Given the description of an element on the screen output the (x, y) to click on. 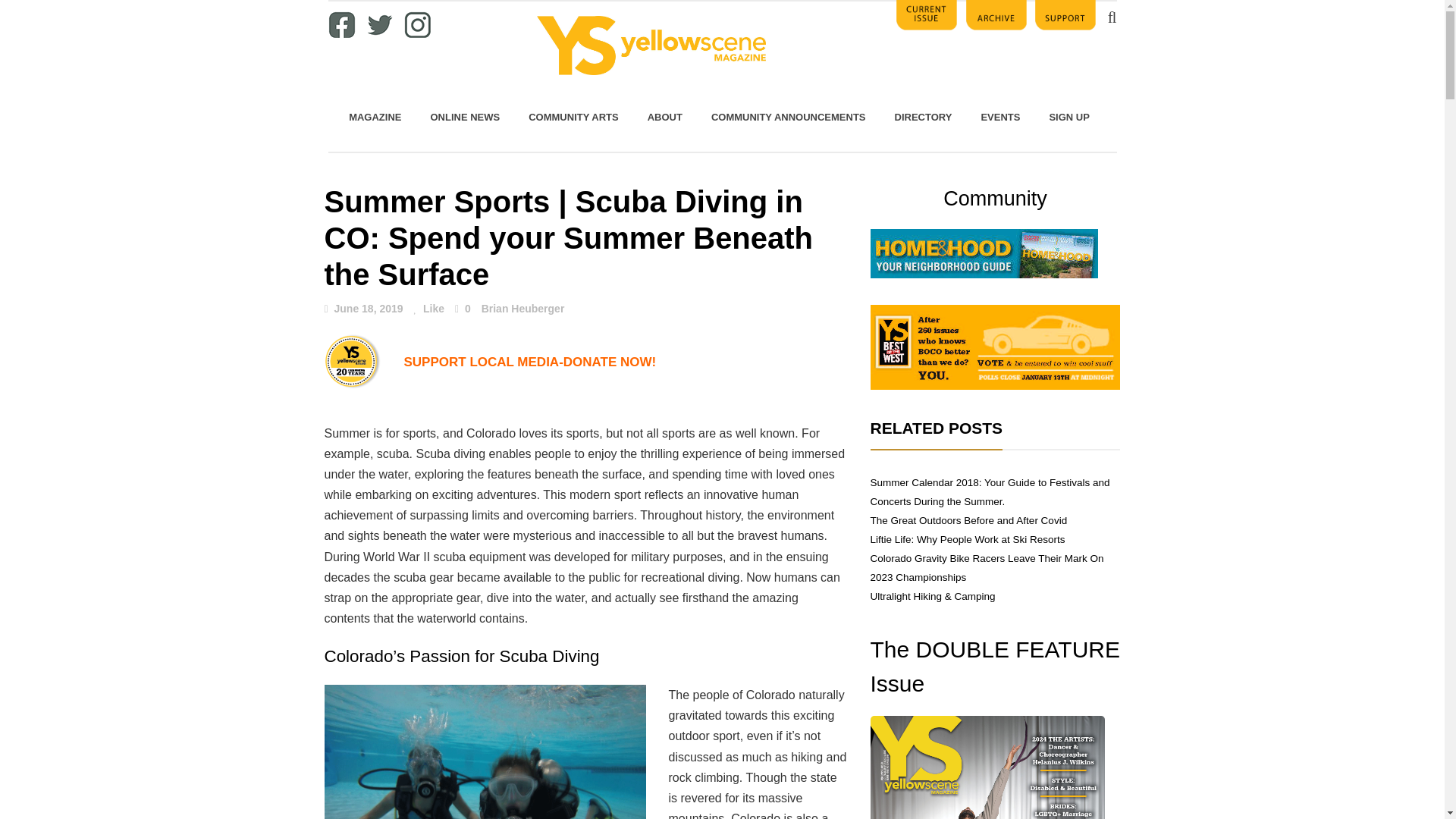
MAGAZINE (374, 117)
ABOUT (665, 117)
Posts by Brian Heuberger (522, 308)
COMMUNITY ANNOUNCEMENTS (788, 117)
July 2024 (987, 767)
Like (428, 309)
ONLINE NEWS (465, 117)
COMMUNITY ARTS (572, 117)
